Given the description of an element on the screen output the (x, y) to click on. 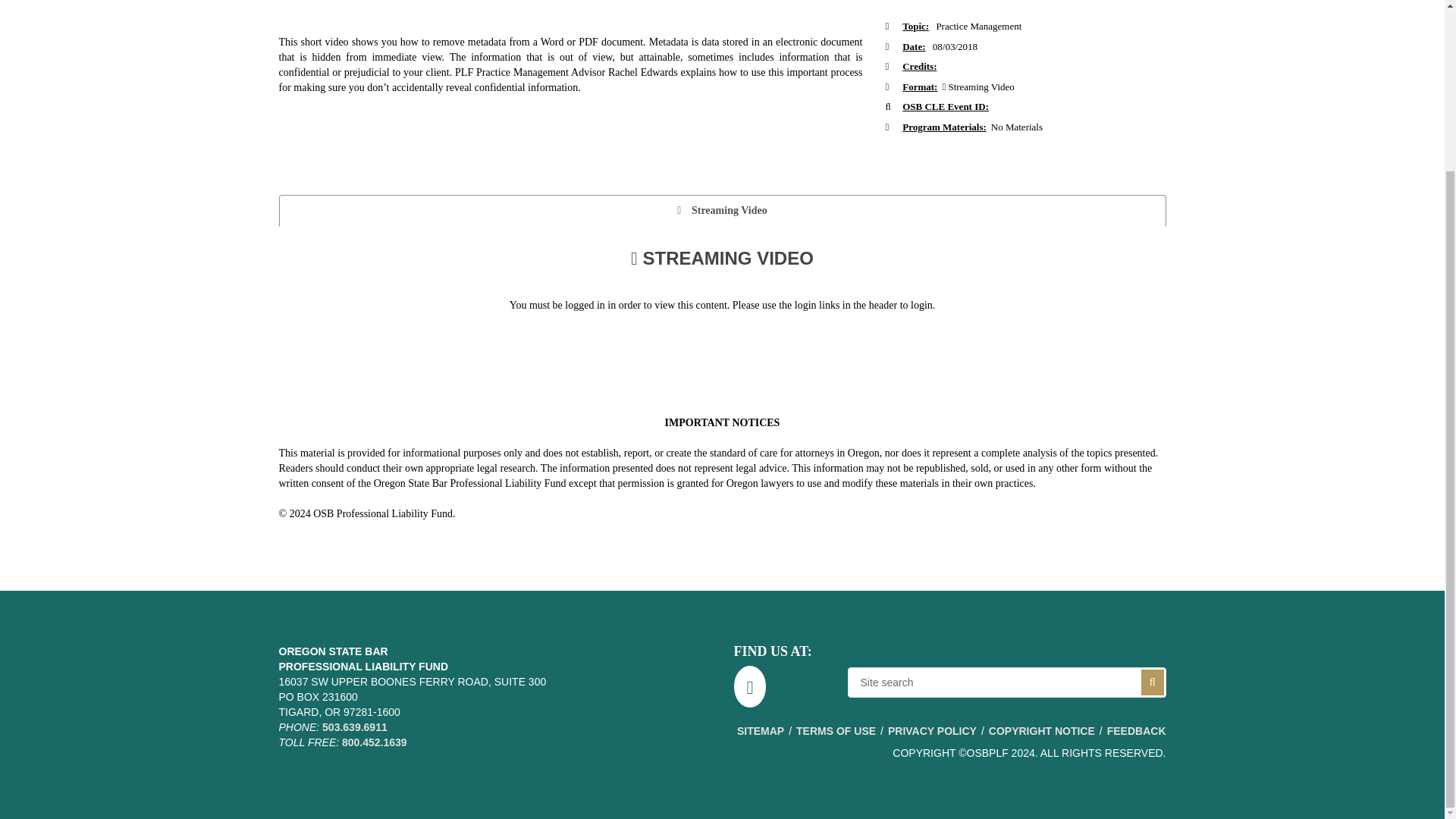
Linkedin (750, 686)
Join Now! (1152, 682)
